Given the description of an element on the screen output the (x, y) to click on. 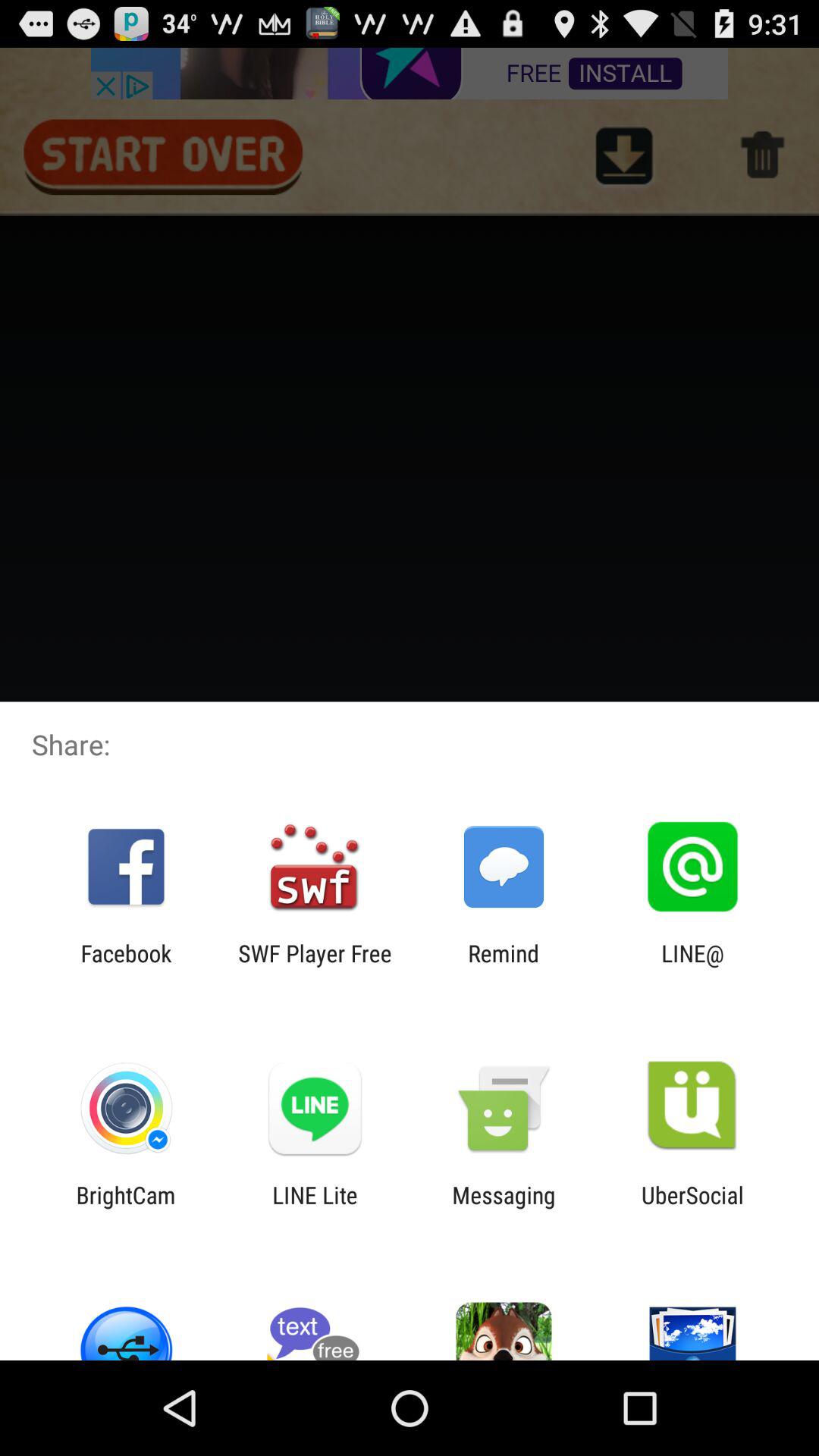
open facebook item (125, 966)
